Given the description of an element on the screen output the (x, y) to click on. 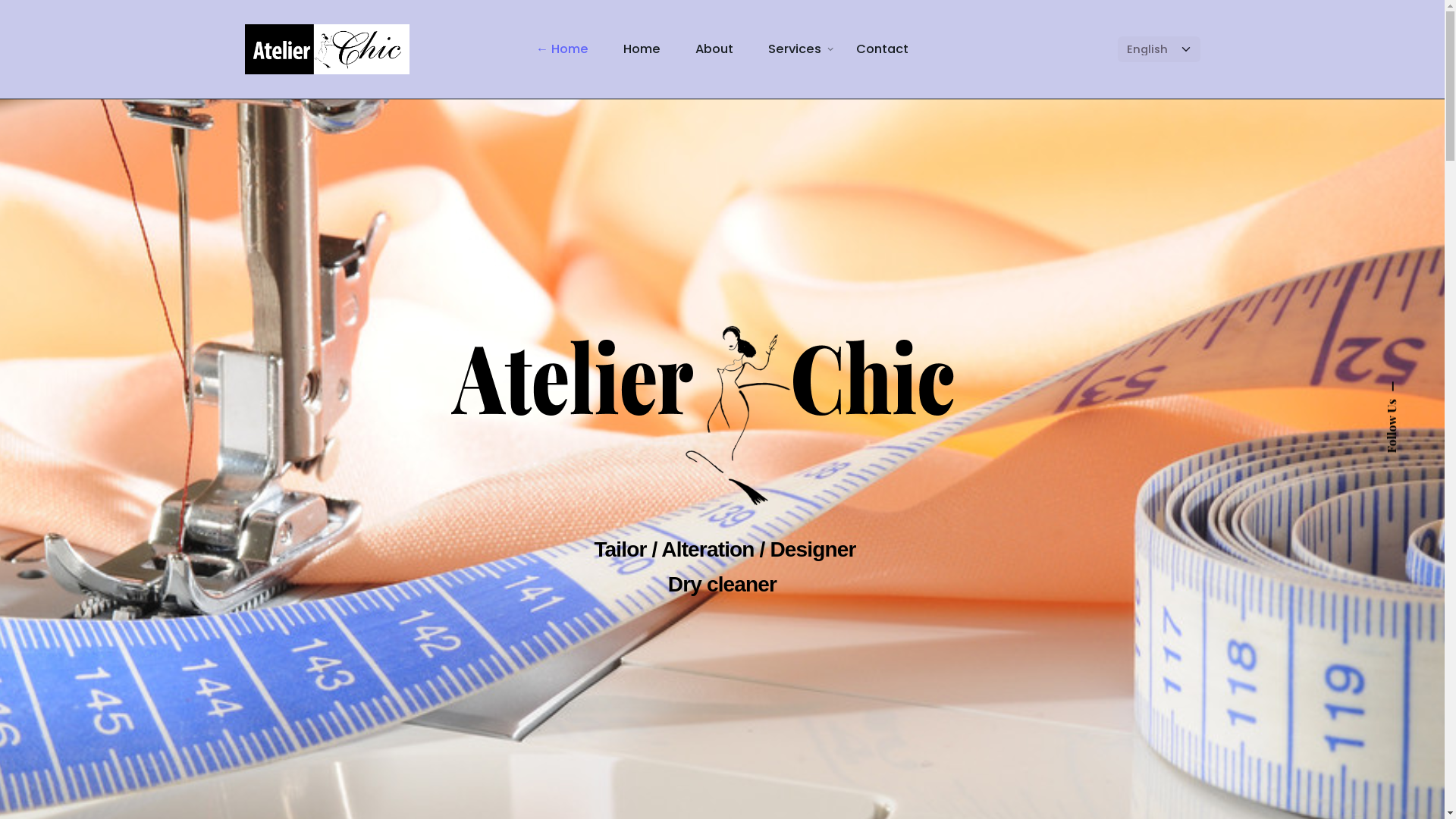
logo Element type: hover (721, 415)
Services Element type: text (794, 48)
Home Element type: text (641, 48)
Contact Element type: text (881, 48)
About Element type: text (713, 48)
